Given the description of an element on the screen output the (x, y) to click on. 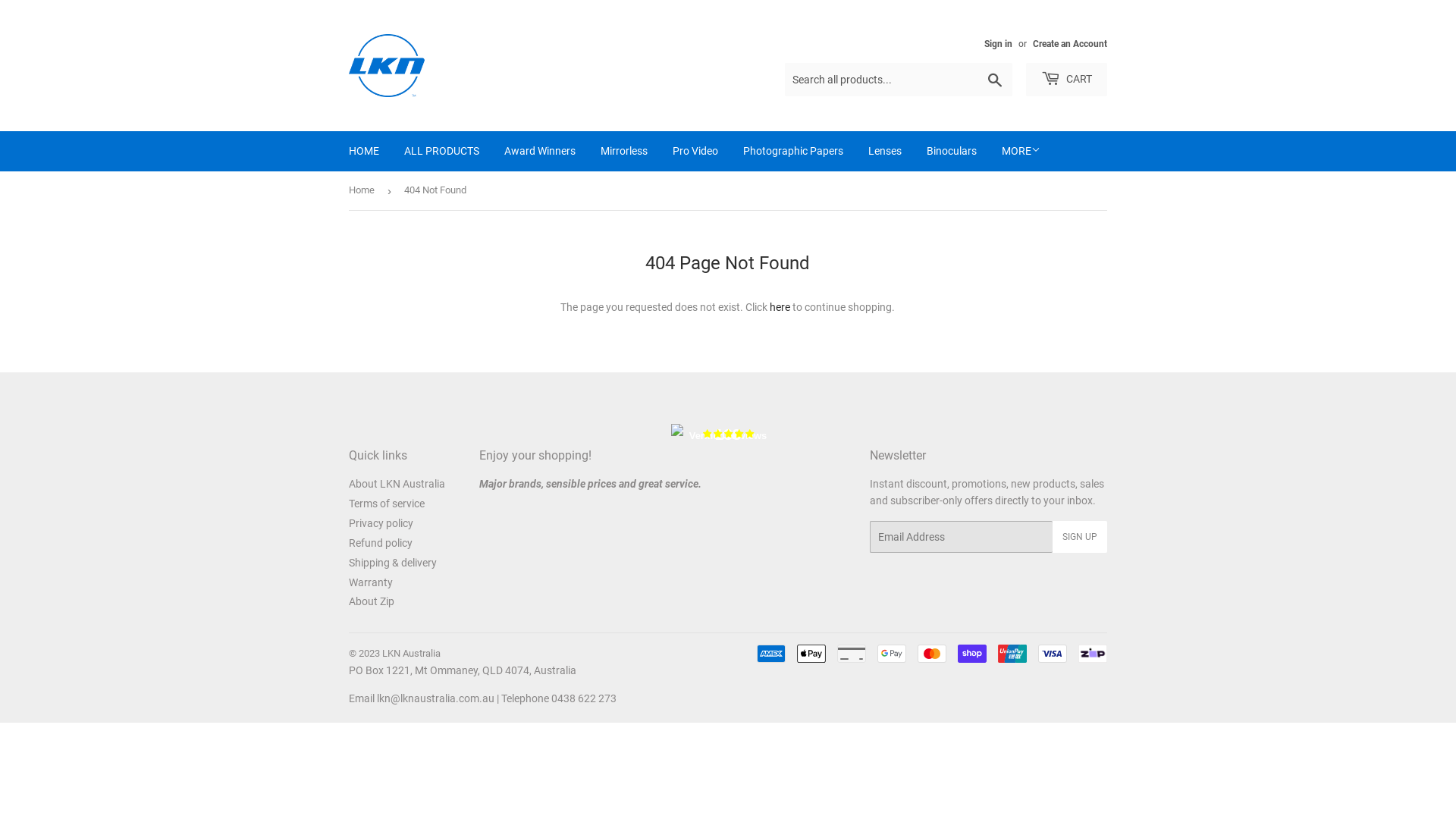
Create an Account Element type: text (1069, 43)
Privacy policy Element type: text (380, 523)
MORE Element type: text (1020, 150)
About Zip Element type: text (371, 601)
Pro Video Element type: text (695, 150)
Warranty Element type: text (370, 582)
About LKN Australia Element type: text (396, 483)
Lenses Element type: text (884, 150)
138
Verified Reviews Element type: text (727, 438)
LKN Australia Element type: text (411, 652)
Refund policy Element type: text (380, 542)
Binoculars Element type: text (951, 150)
Terms of service Element type: text (386, 503)
SIGN UP Element type: text (1079, 536)
Shipping & delivery Element type: text (392, 562)
here Element type: text (779, 307)
Award Winners Element type: text (539, 150)
CART Element type: text (1066, 79)
Home Element type: text (363, 190)
Mirrorless Element type: text (623, 150)
HOME Element type: text (363, 150)
Sign in Element type: text (998, 43)
ALL PRODUCTS Element type: text (441, 150)
Search Element type: text (995, 80)
Photographic Papers Element type: text (792, 150)
